Given the description of an element on the screen output the (x, y) to click on. 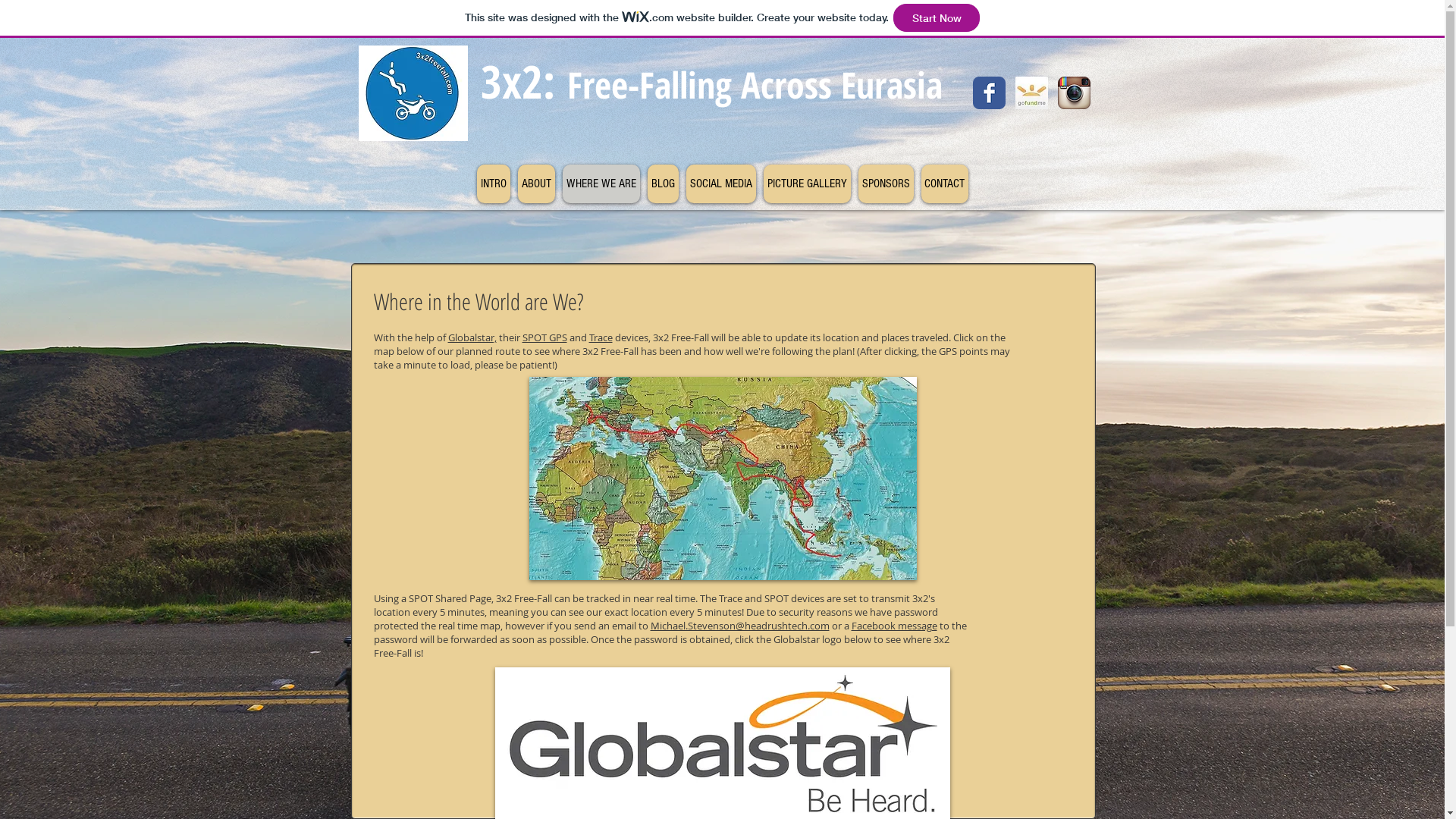
ABOUT Element type: text (535, 183)
Michael.Stevenson@headrushtech.com Element type: text (739, 625)
WHERE WE ARE Element type: text (601, 183)
CONTACT Element type: text (943, 183)
Globalstar, Element type: text (471, 337)
SPOT GPS Element type: text (543, 337)
PICTURE GALLERY Element type: text (806, 183)
Trace Element type: text (599, 337)
BLOG Element type: text (662, 183)
SPONSORS Element type: text (885, 183)
3x2 logo.JPG Element type: hover (412, 92)
Facebook message Element type: text (893, 625)
SOCIAL MEDIA Element type: text (720, 183)
INTRO Element type: text (492, 183)
